Given the description of an element on the screen output the (x, y) to click on. 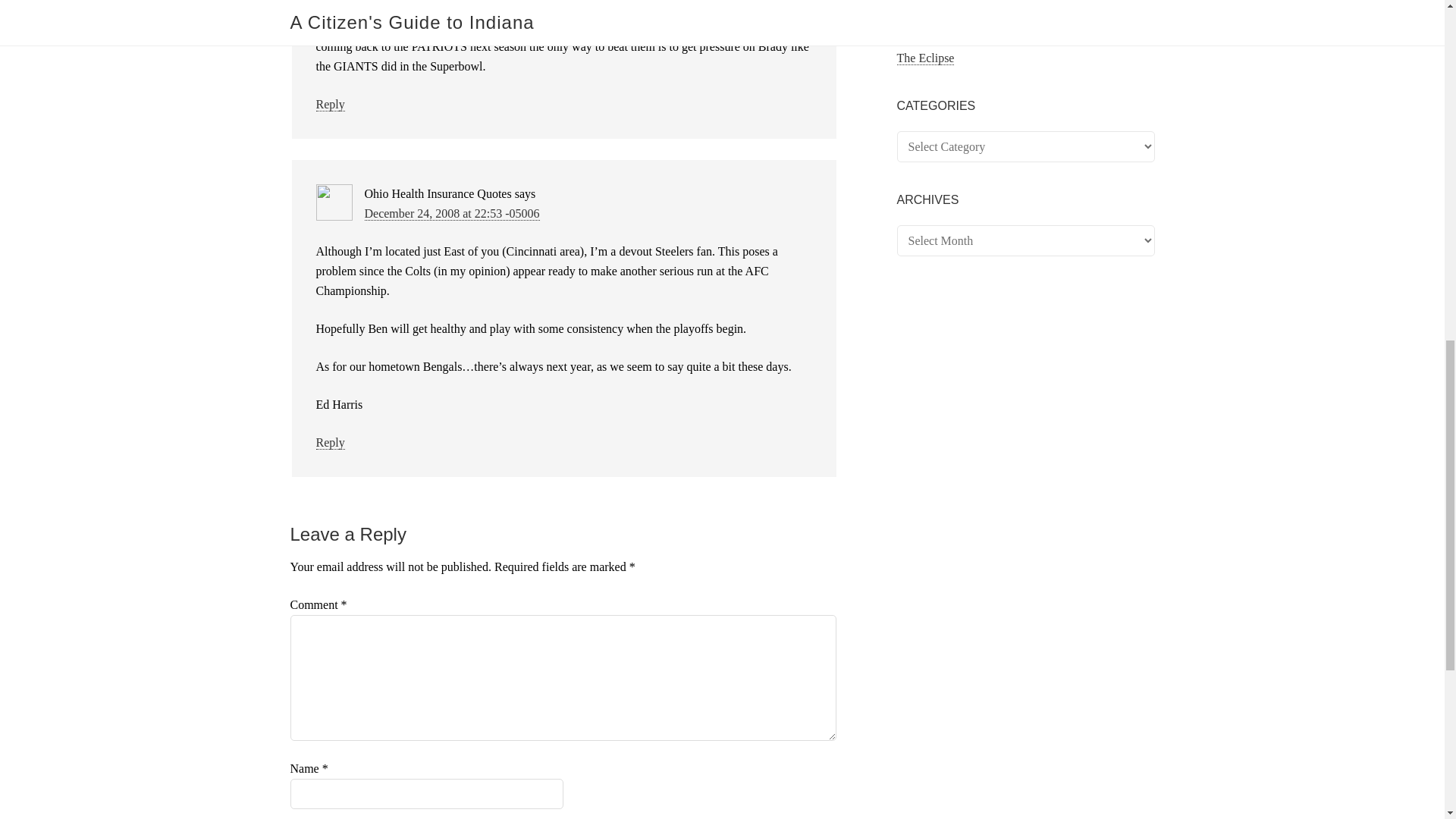
December 24, 2008 at 22:53 -05006 (451, 213)
The Eclipse (924, 58)
Reply (329, 104)
Reply (329, 442)
